Given the description of an element on the screen output the (x, y) to click on. 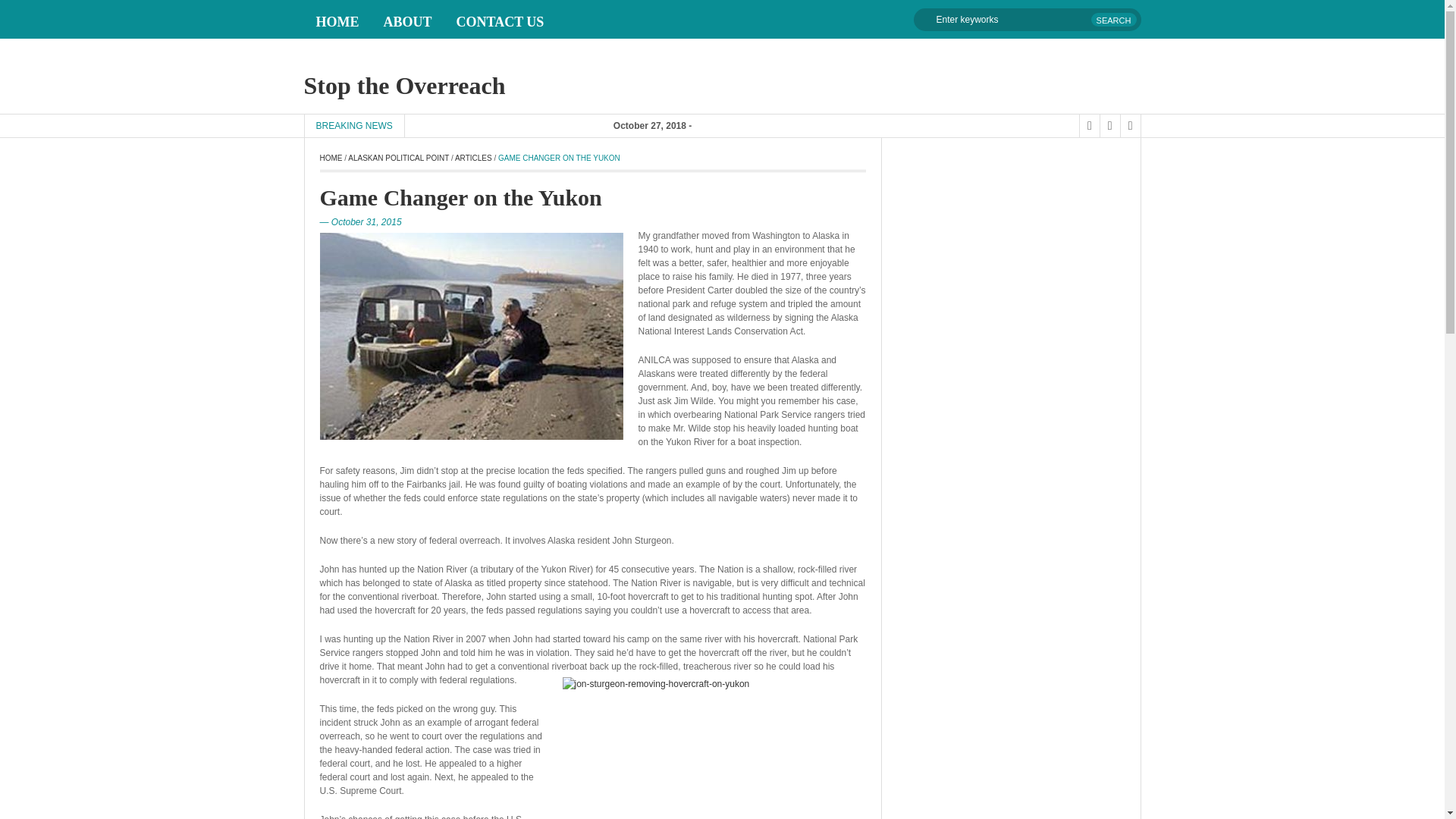
October 27, 2018 - What Would Uncle Ted Say? (661, 148)
Search (1112, 19)
ARTICLES (473, 157)
Search (1112, 19)
Enter keyworks (1026, 19)
Enter keyworks (1026, 19)
ABOUT (407, 21)
CONTACT US (500, 21)
Stop the Overreach (403, 85)
ALASKAN POLITICAL POINT (397, 157)
